Given the description of an element on the screen output the (x, y) to click on. 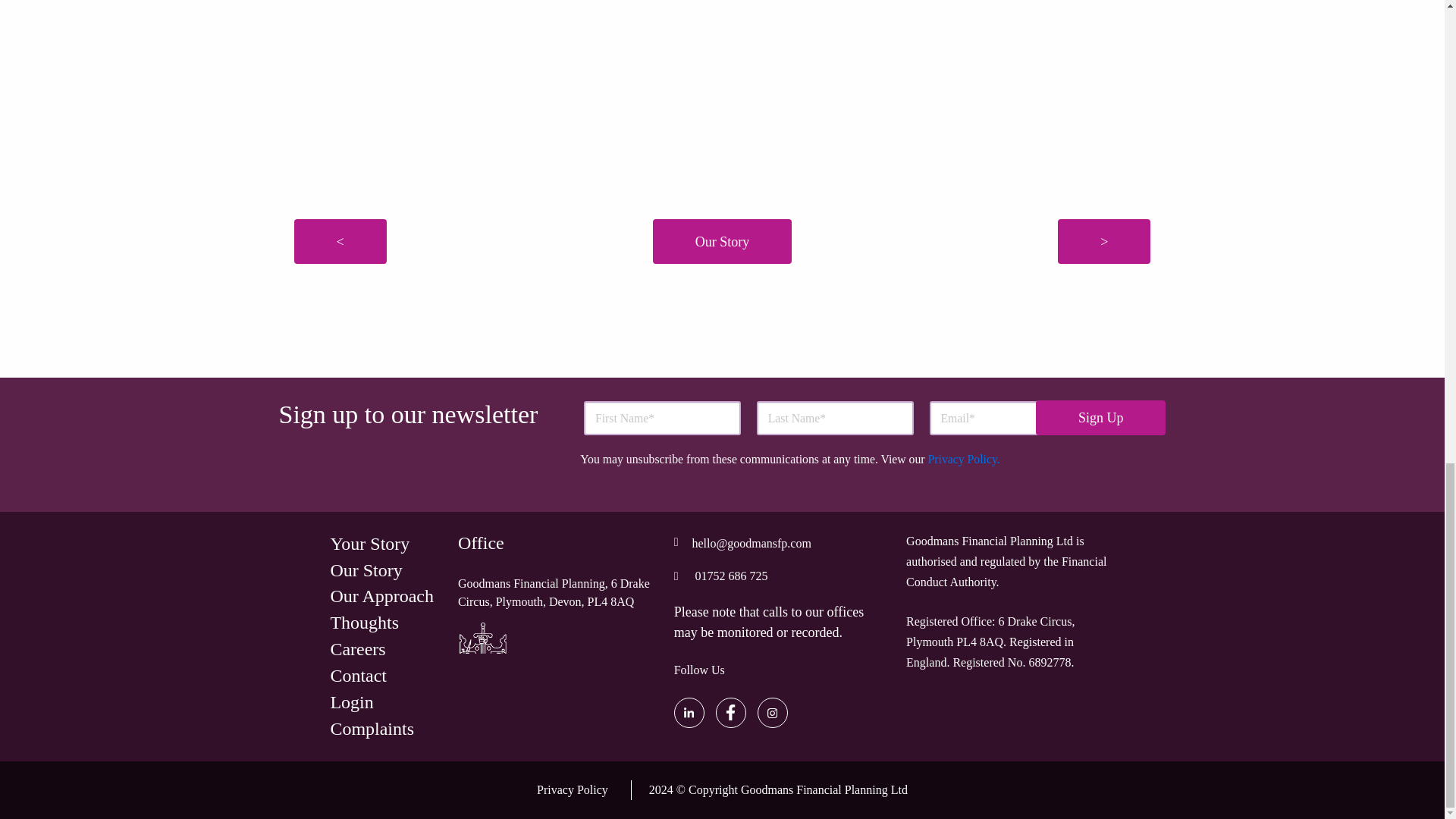
Your Story (369, 543)
Careers (357, 649)
Our Story (365, 569)
Our Story (722, 241)
Login (351, 702)
Our Approach (381, 596)
Privacy Policy (572, 790)
Sign up (1100, 417)
Complaints (371, 728)
